Given the description of an element on the screen output the (x, y) to click on. 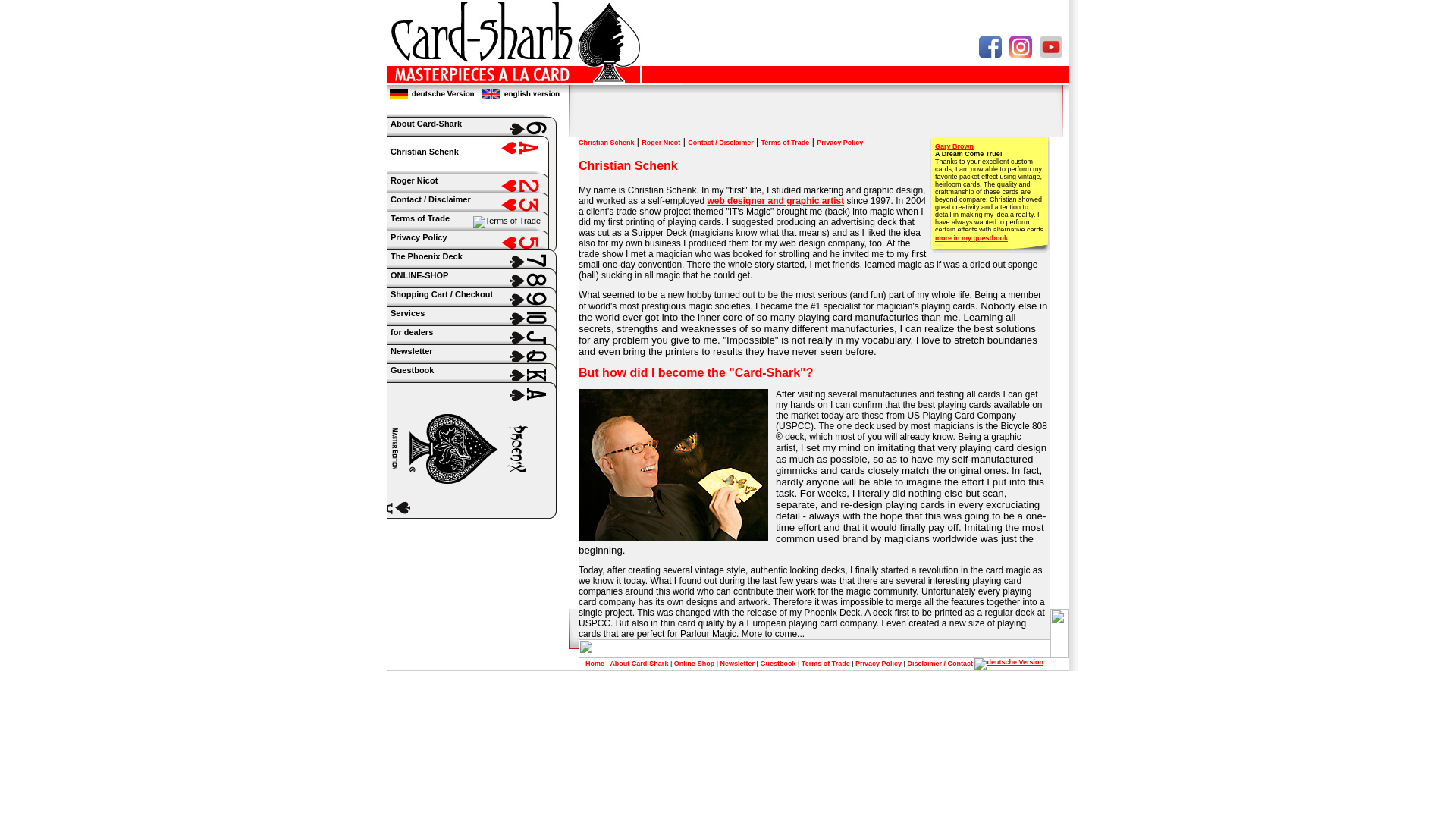
Terms of Trade (481, 232)
ONLINE-SHOP (481, 289)
Terms of Trade (784, 142)
more in my guestbook (970, 237)
Roger Nicot (481, 194)
Christian Schenk (606, 142)
Terms of Trade (826, 663)
Newsletter (737, 663)
Privacy Policy (481, 251)
Privacy Policy (839, 142)
